Given the description of an element on the screen output the (x, y) to click on. 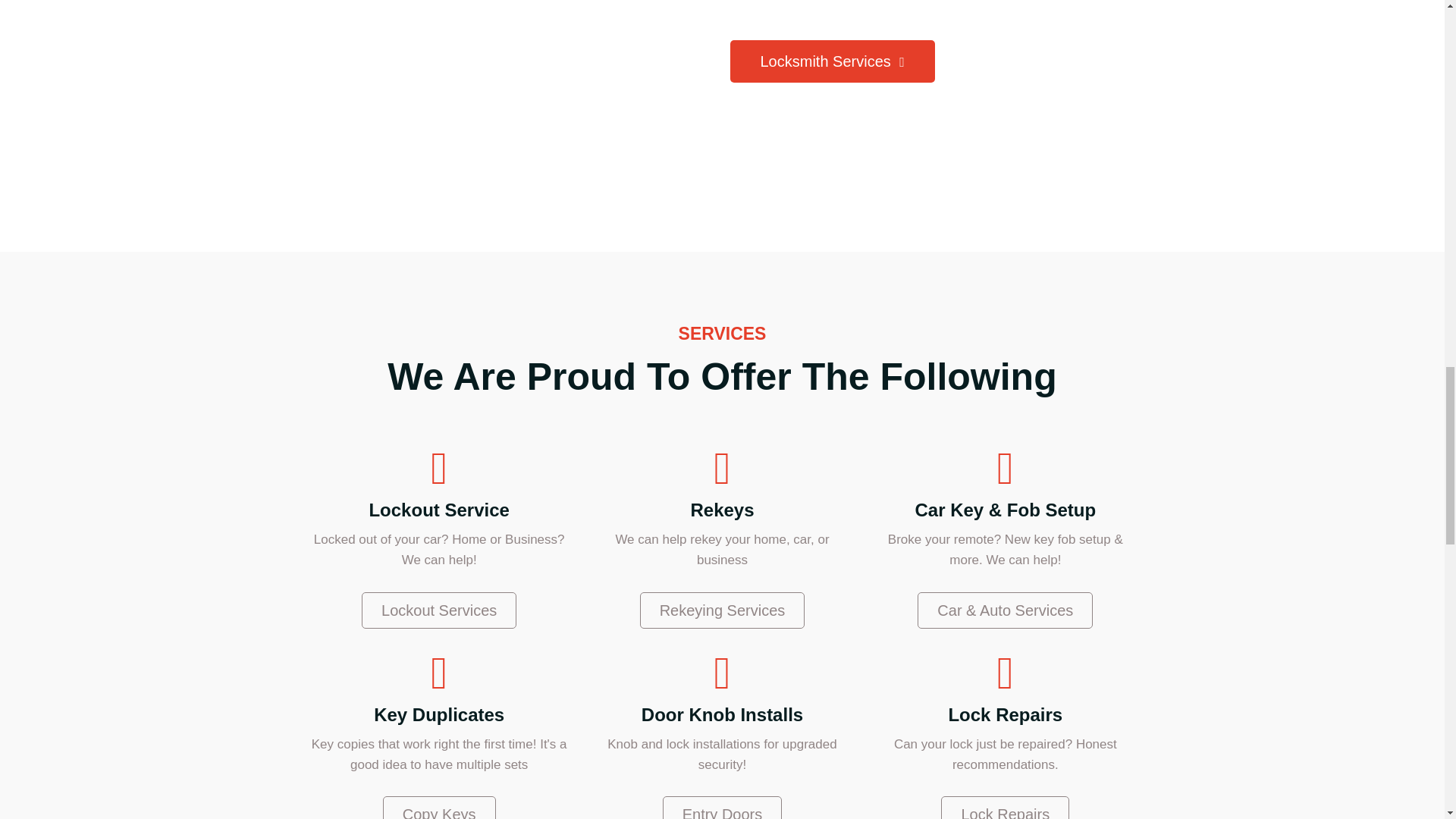
Copy Keys (439, 807)
Lockout Services (438, 610)
Locksmith Services (831, 61)
Lock Repairs (1004, 807)
Rekeying Services (722, 610)
Entry Doors (722, 807)
